Given the description of an element on the screen output the (x, y) to click on. 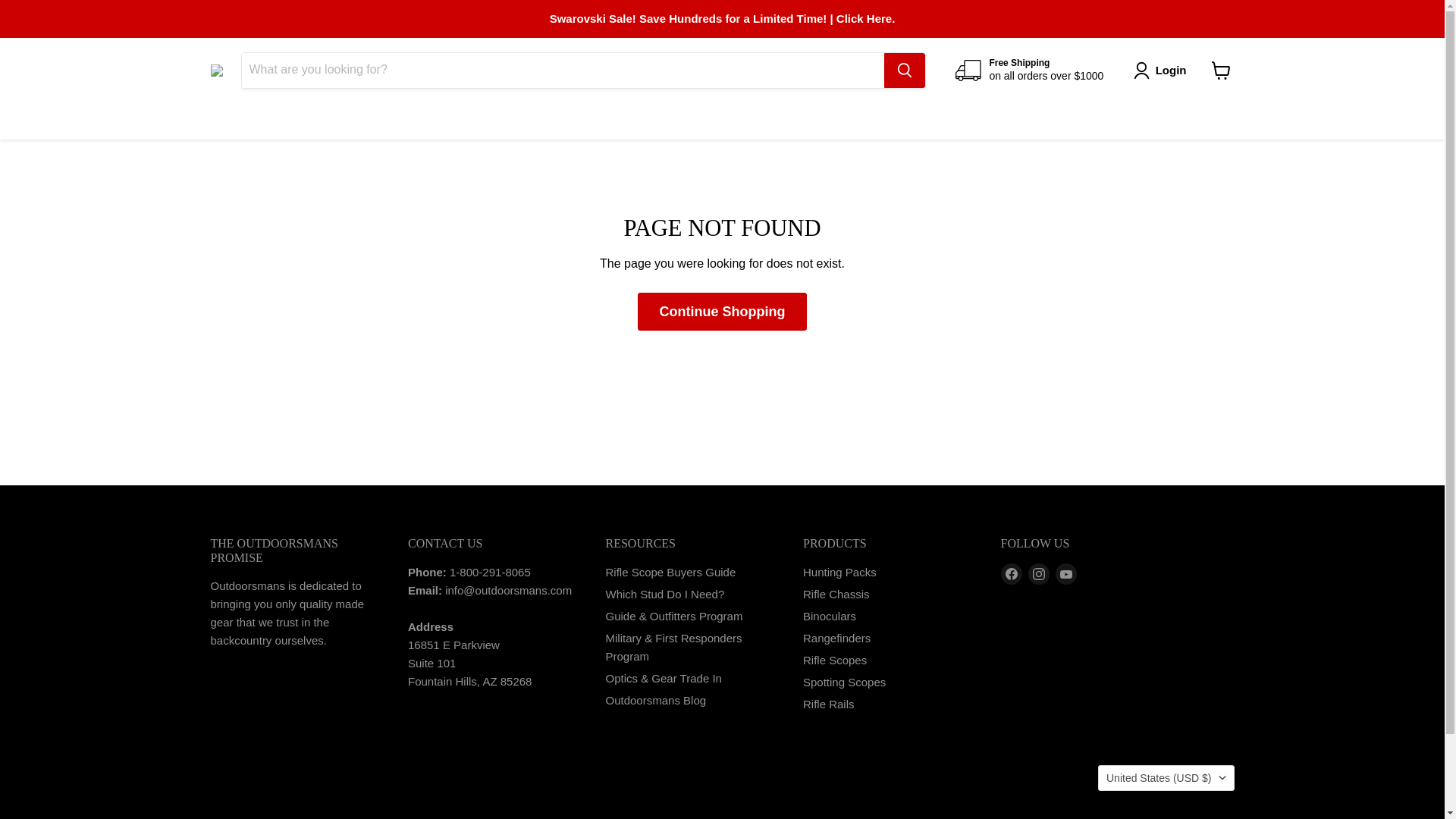
Rangefinders (836, 637)
Instagram (1038, 573)
Hunting Packs (839, 571)
Rifle Scope Buyers Guide (670, 571)
Find us on Facebook (1011, 573)
Continue Shopping (722, 311)
Which Stud Do I Need? (664, 594)
Outdoorsmans Blog (655, 699)
Binoculars (829, 615)
Spotting Scopes (844, 681)
Find us on Instagram (1038, 573)
YouTube (1066, 573)
Facebook (1011, 573)
Find us on YouTube (1066, 573)
Login (1163, 70)
